Given the description of an element on the screen output the (x, y) to click on. 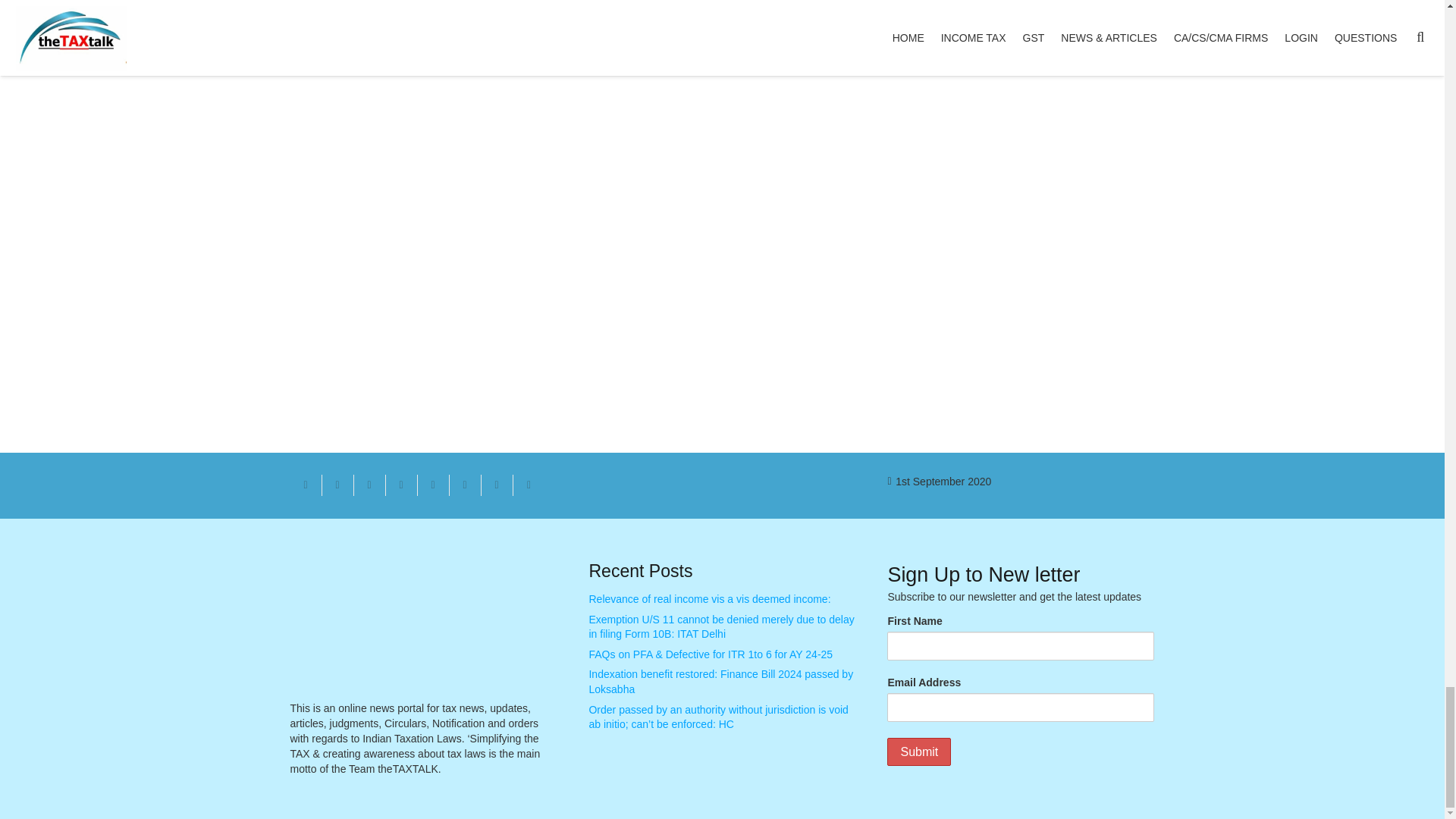
Share this (400, 485)
Submit (918, 751)
Share this (337, 485)
Share this (528, 485)
Pin this (432, 485)
Share this (464, 485)
Share this (496, 485)
Email this (305, 485)
Tweet this (369, 485)
